Given the description of an element on the screen output the (x, y) to click on. 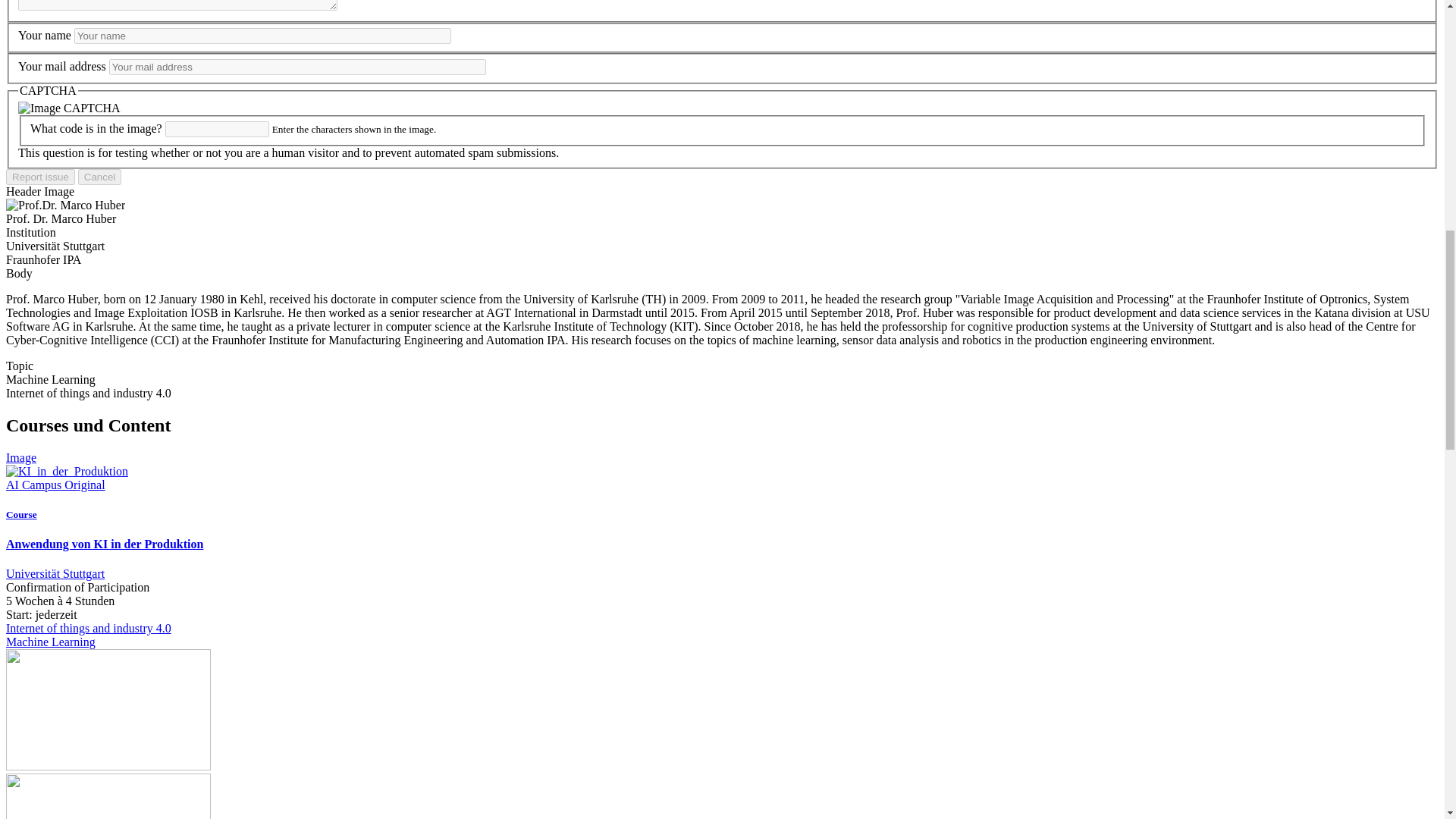
Image CAPTCHA (68, 108)
Cancel (100, 176)
Report issue (40, 176)
